Given the description of an element on the screen output the (x, y) to click on. 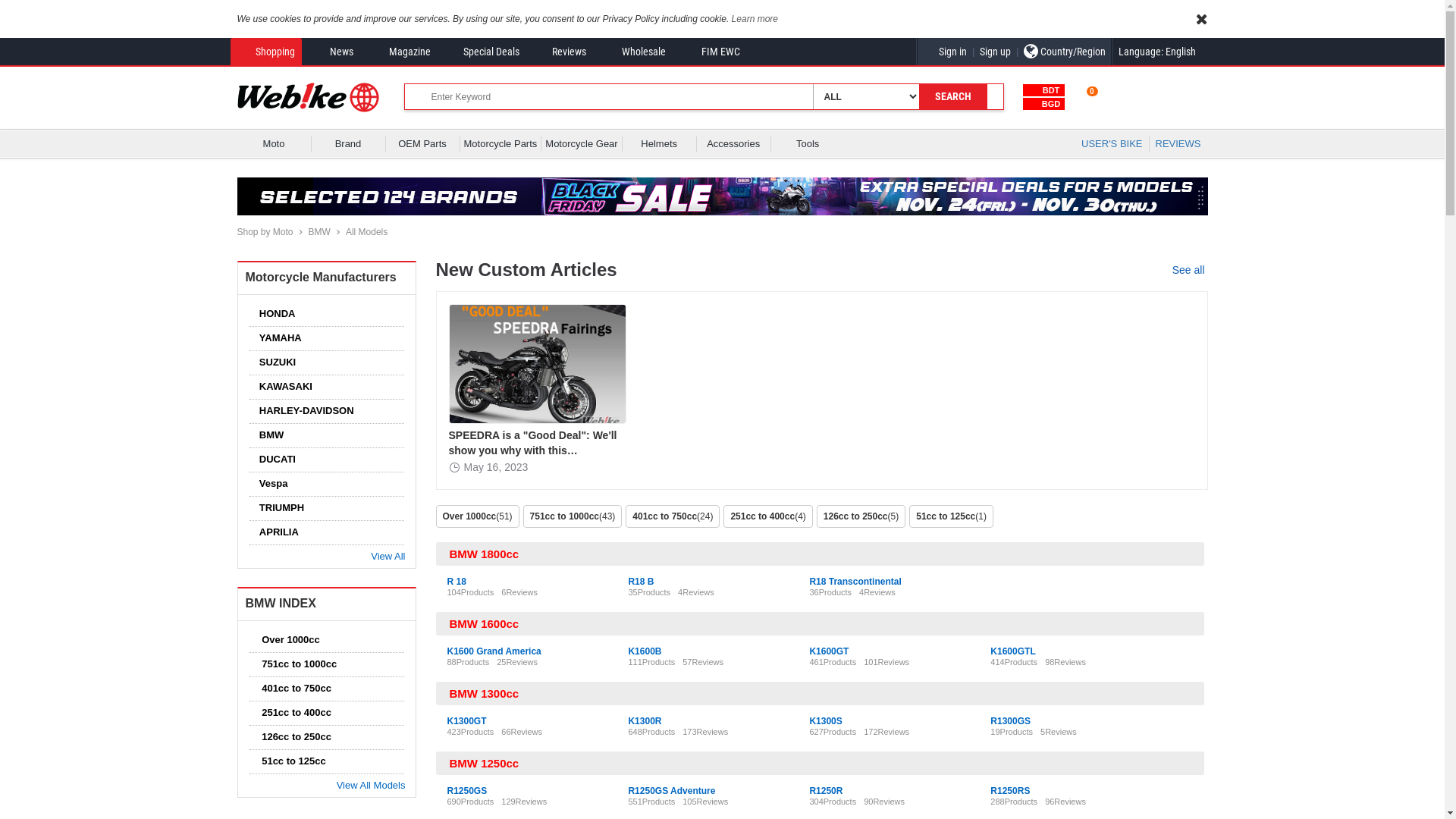
K1600GTL Element type: text (1012, 651)
Magazine Element type: text (398, 51)
551Products Element type: text (650, 801)
5Reviews Element type: text (1058, 731)
304Products Element type: text (832, 801)
DUCATI Element type: text (273, 459)
751cc to 1000cc Element type: text (295, 663)
Sign up Element type: text (994, 51)
SUZUKI Element type: text (273, 362)
461Products Element type: text (832, 661)
4Reviews Element type: text (877, 591)
98Reviews Element type: text (1064, 661)
36Products Element type: text (830, 591)
Over 1000cc(51) Element type: text (478, 516)
251cc to 400cc(4) Element type: text (769, 516)
Reviews Element type: text (559, 51)
627Products Element type: text (832, 731)
HONDA Element type: text (273, 313)
51cc to 125cc Element type: text (290, 760)
88Products Element type: text (468, 661)
Brand Element type: text (348, 143)
K1600GT Element type: text (828, 651)
251cc to 400cc Element type: text (292, 712)
Motorcycle Gear Element type: text (581, 143)
USER'S BIKE Element type: text (1111, 143)
Country/Region Element type: text (1063, 51)
HARLEY-DAVIDSON Element type: text (302, 410)
66Reviews Element type: text (521, 731)
Accessories Element type: text (733, 143)
104Products Element type: text (470, 591)
288Products Element type: text (1013, 801)
See all Element type: text (1190, 269)
R18 B Element type: text (640, 581)
R 18 Element type: text (456, 581)
96Reviews Element type: text (1064, 801)
Motorcycle Parts Element type: text (500, 143)
Tools Element type: text (807, 143)
Shopping Element type: text (265, 51)
25Reviews Element type: text (516, 661)
KAWASAKI Element type: text (281, 386)
View All Models Element type: text (368, 785)
View All Element type: text (385, 556)
111Products Element type: text (650, 661)
6Reviews Element type: text (519, 591)
Vespa Element type: text (269, 483)
Moto Element type: text (274, 143)
K1300GT Element type: text (466, 720)
751cc to 1000cc(43) Element type: text (574, 516)
REVIEWS Element type: text (1178, 143)
4Reviews Element type: text (695, 591)
BMW Element type: text (319, 231)
BMW Element type: text (267, 434)
423Products Element type: text (470, 731)
R1300GS Element type: text (1010, 720)
126cc to 250cc(5) Element type: text (862, 516)
R1250GS Adventure Element type: text (671, 790)
Over 1000cc Element type: text (287, 639)
K1600B Element type: text (644, 651)
SEARCH Element type: text (953, 96)
R1250RS Element type: text (1009, 790)
Helmets Element type: text (659, 143)
51cc to 125cc(1) Element type: text (953, 516)
19Products Element type: text (1011, 731)
Special Deals Element type: text (482, 51)
172Reviews Element type: text (886, 731)
35Products Element type: text (648, 591)
401cc to 750cc Element type: text (292, 688)
R18 Transcontinental Element type: text (854, 581)
414Products Element type: text (1013, 661)
Shop by Moto Element type: text (264, 231)
105Reviews Element type: text (705, 801)
Language: English Element type: text (1162, 51)
126cc to 250cc Element type: text (292, 736)
101Reviews Element type: text (886, 661)
Sign in Element type: text (944, 51)
K1300R Element type: text (644, 720)
News Element type: text (330, 51)
129Reviews Element type: text (523, 801)
| Element type: text (1017, 51)
TRIUMPH Element type: text (277, 507)
OEM Parts Element type: text (422, 143)
K1300S Element type: text (825, 720)
690Products Element type: text (470, 801)
YAMAHA Element type: text (276, 337)
Wholesale Element type: text (632, 51)
57Reviews Element type: text (702, 661)
648Products Element type: text (650, 731)
K1600 Grand America Element type: text (494, 651)
90Reviews Element type: text (883, 801)
FIM EWC Element type: text (709, 51)
173Reviews Element type: text (705, 731)
| Element type: text (973, 51)
R1250R Element type: text (825, 790)
401cc to 750cc(24) Element type: text (674, 516)
Learn more Element type: text (754, 18)
APRILIA Element type: text (274, 531)
R1250GS Element type: text (467, 790)
